Given the description of an element on the screen output the (x, y) to click on. 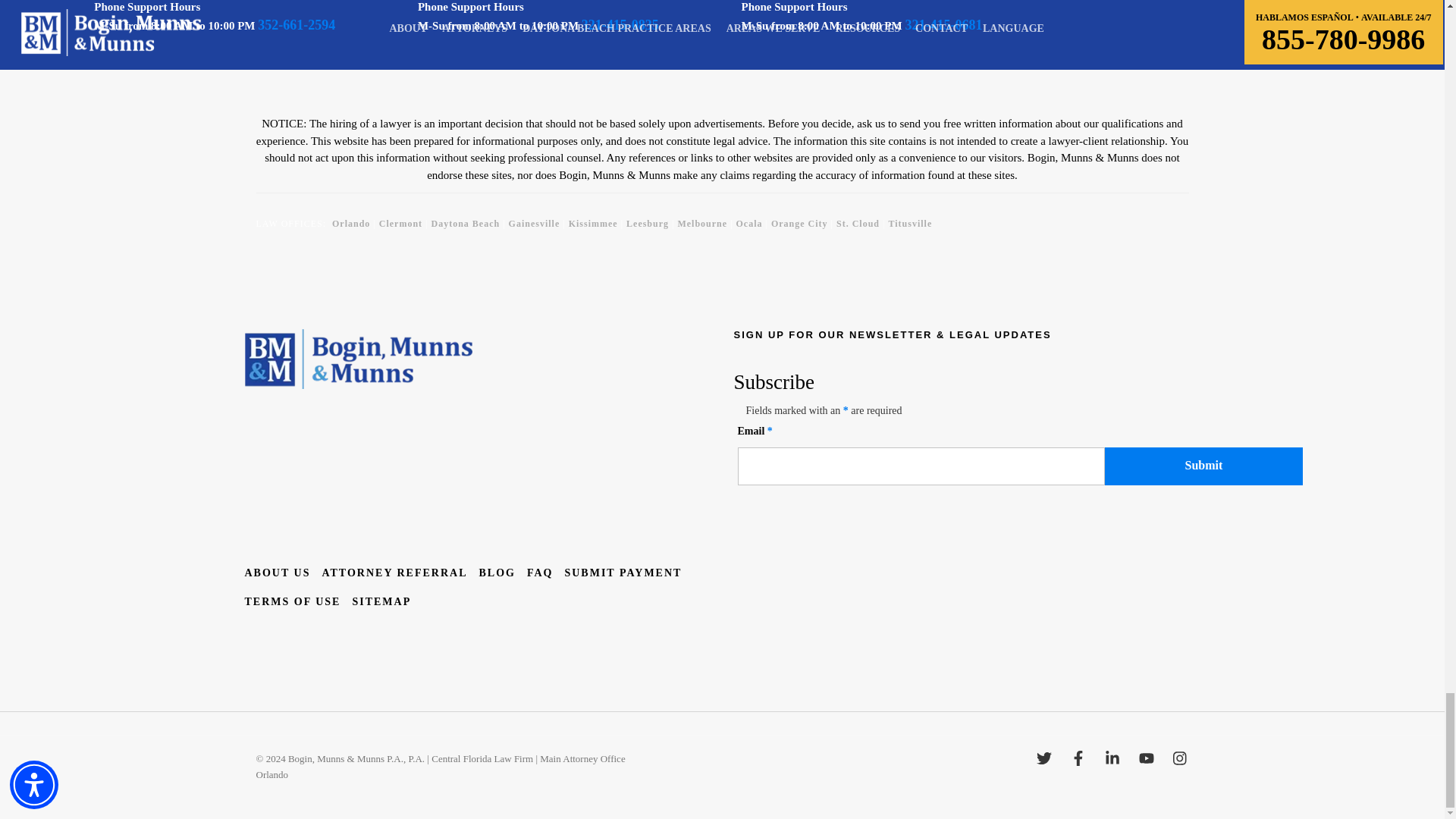
Submit (1203, 466)
